Given the description of an element on the screen output the (x, y) to click on. 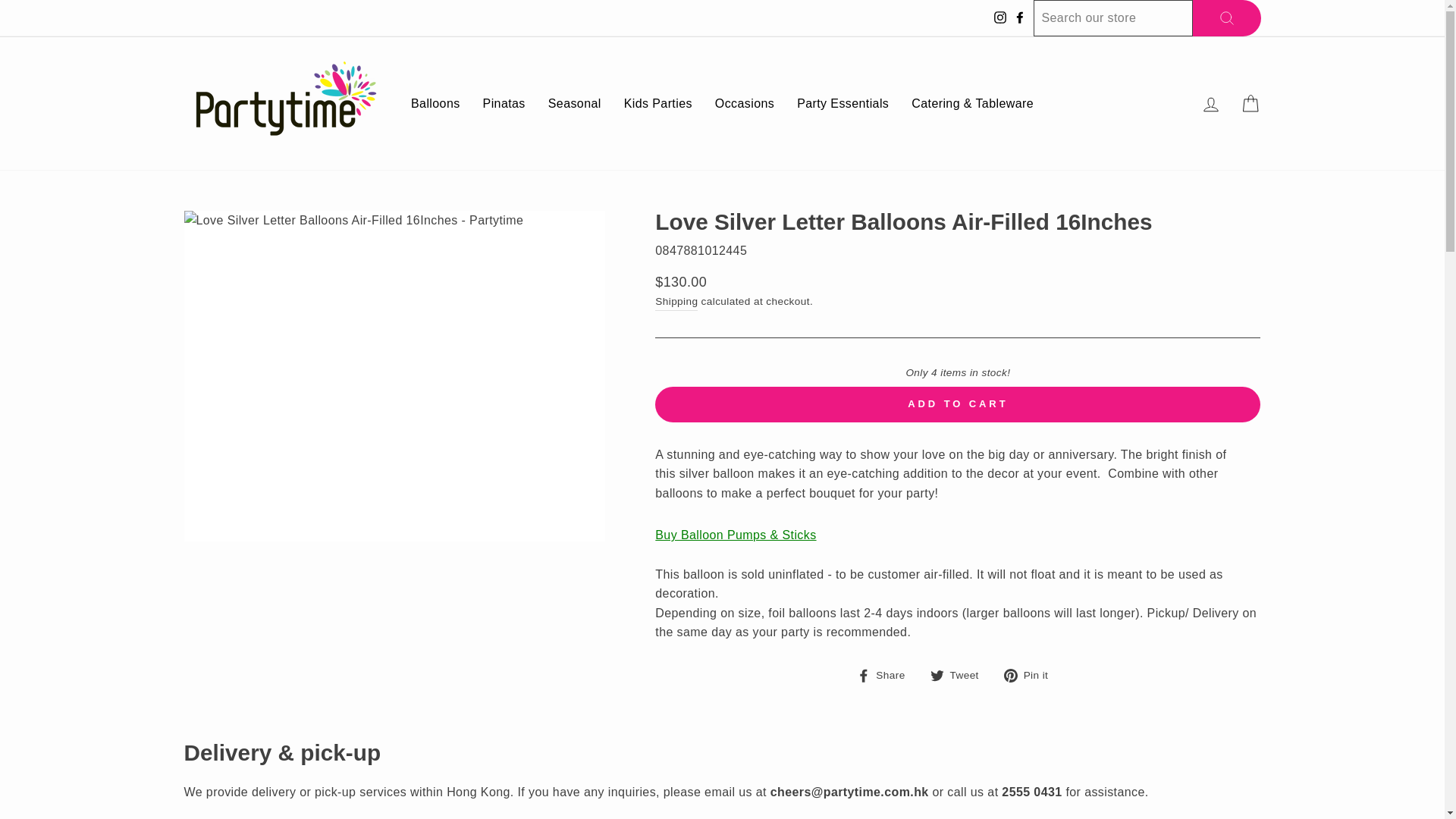
Pin on Pinterest (1031, 674)
Share on Facebook (887, 674)
Tweet on Twitter (960, 674)
